Given the description of an element on the screen output the (x, y) to click on. 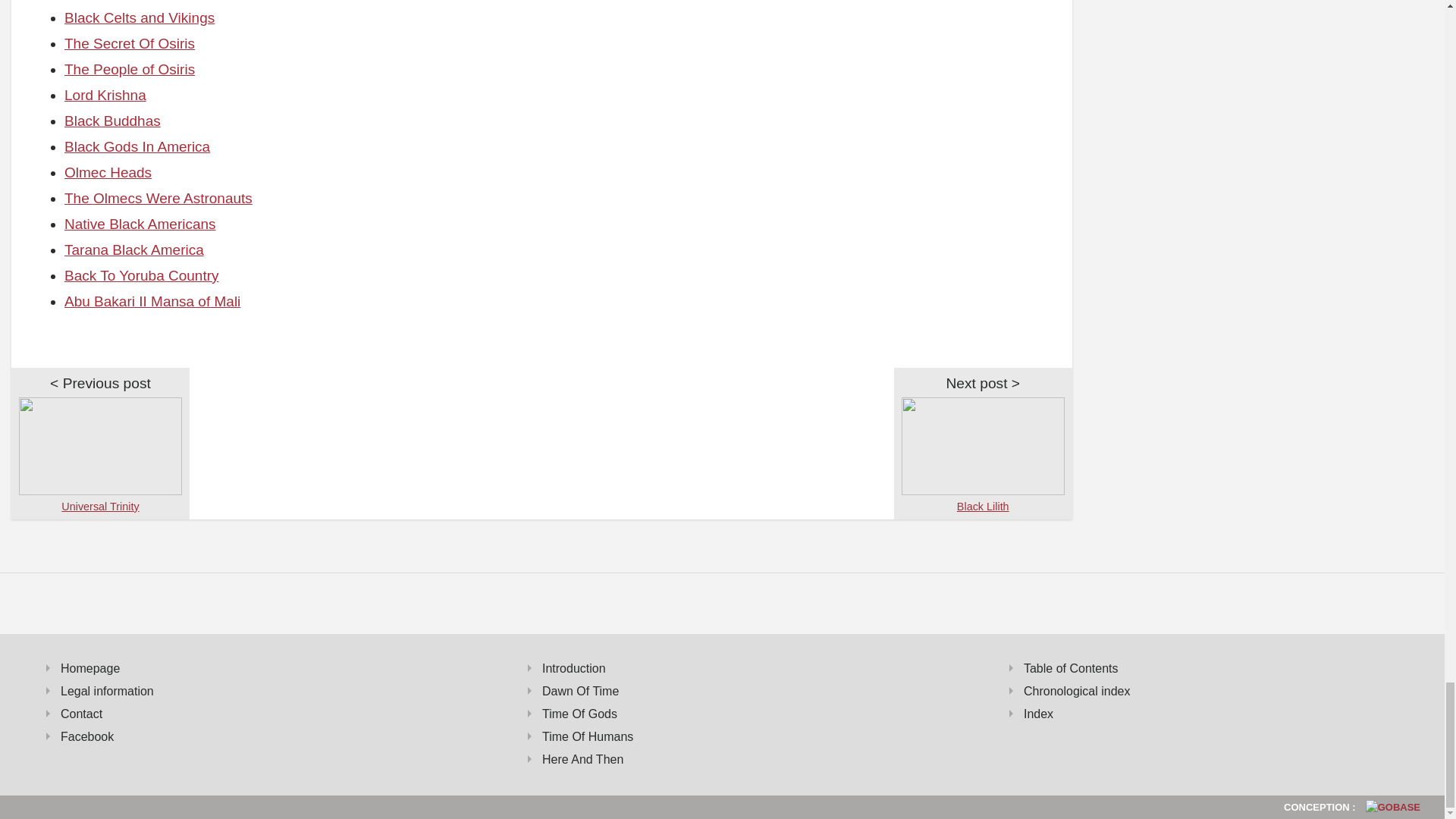
The secret of Osiris is not well kept enough for Eden Saga (129, 43)
